Given the description of an element on the screen output the (x, y) to click on. 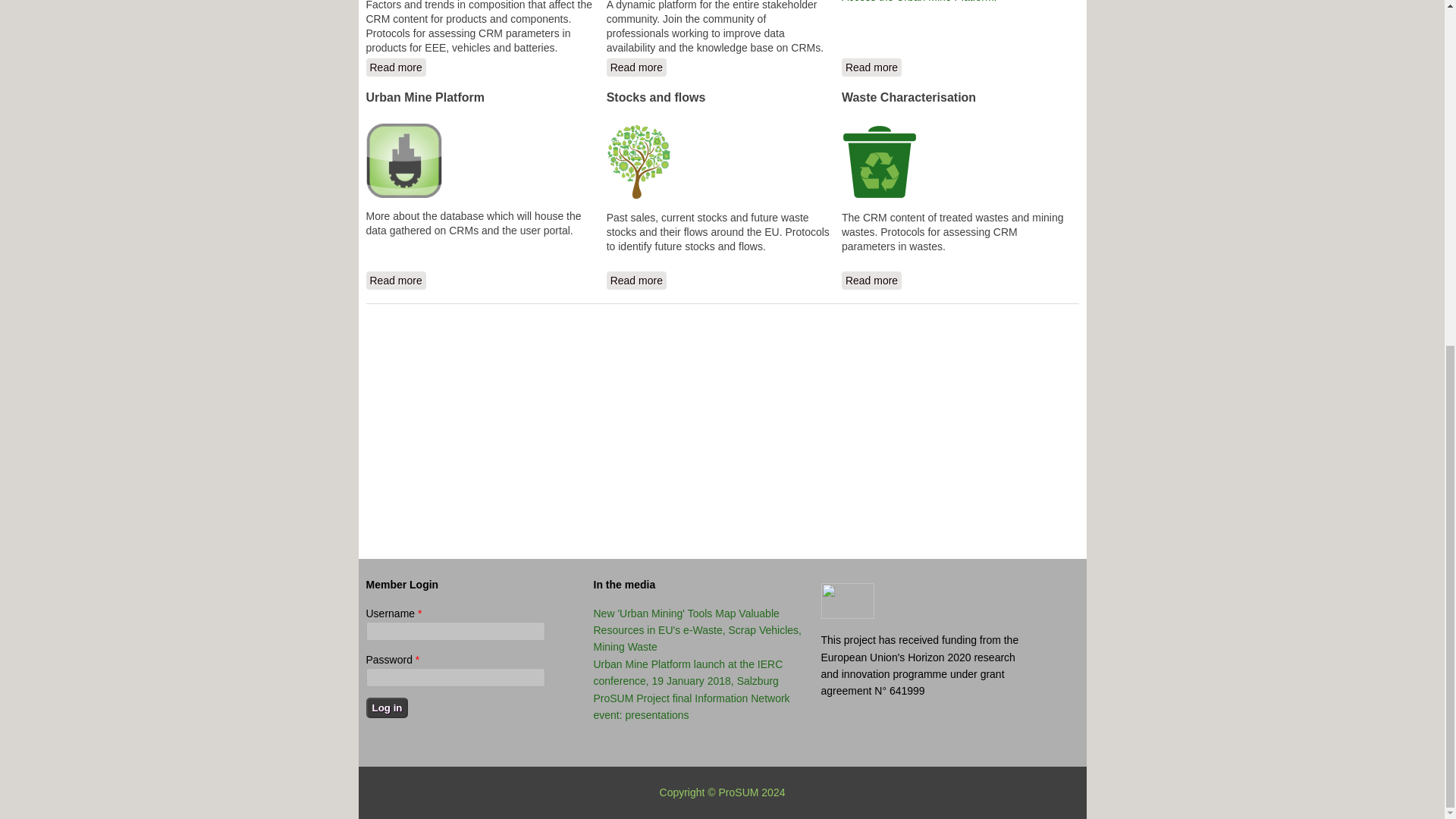
Log in (395, 67)
